Given the description of an element on the screen output the (x, y) to click on. 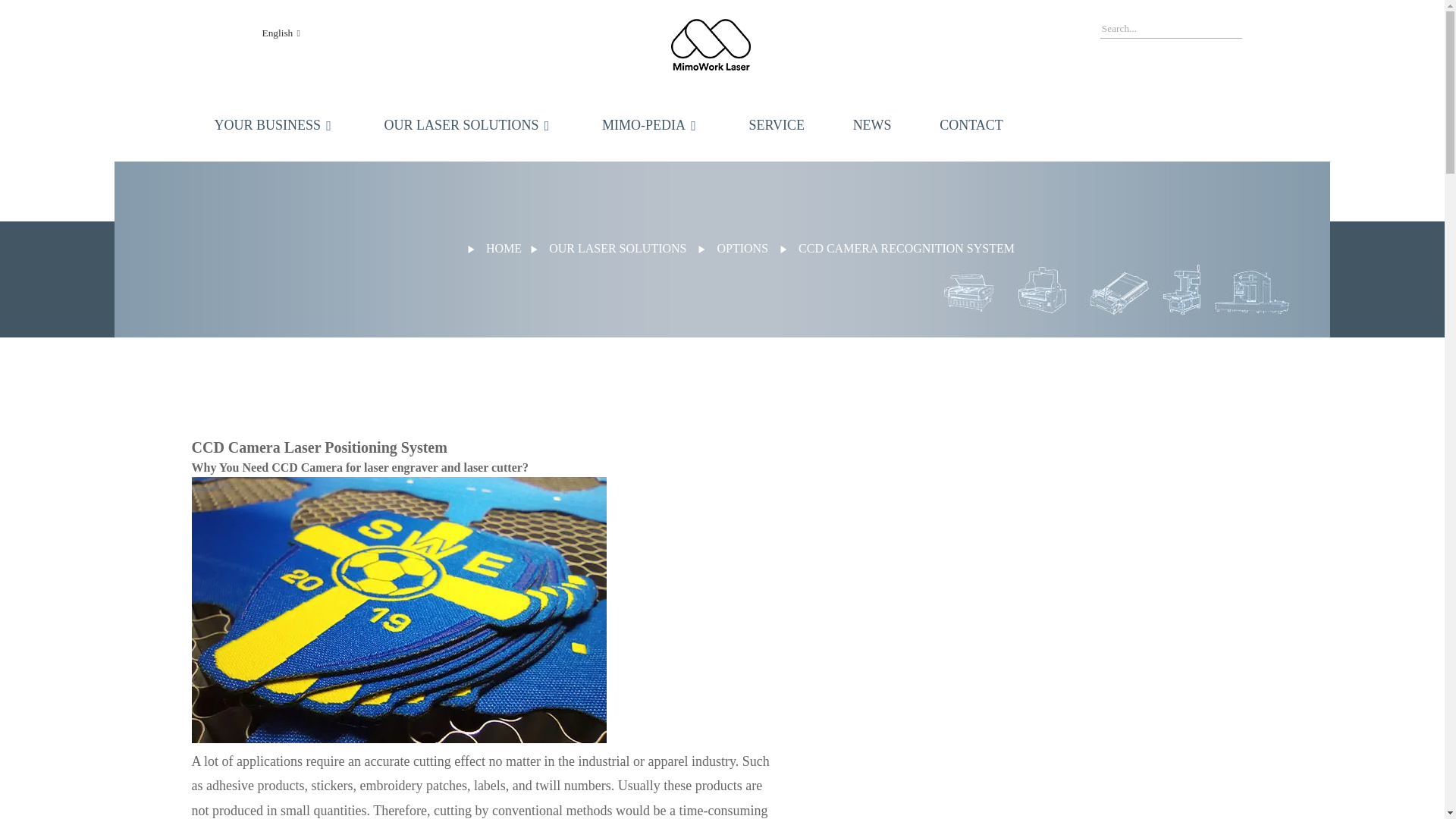
YOUR BUSINESS (275, 125)
MIMO-PEDIA (651, 125)
English (267, 32)
OUR LASER SOLUTIONS (469, 125)
